Given the description of an element on the screen output the (x, y) to click on. 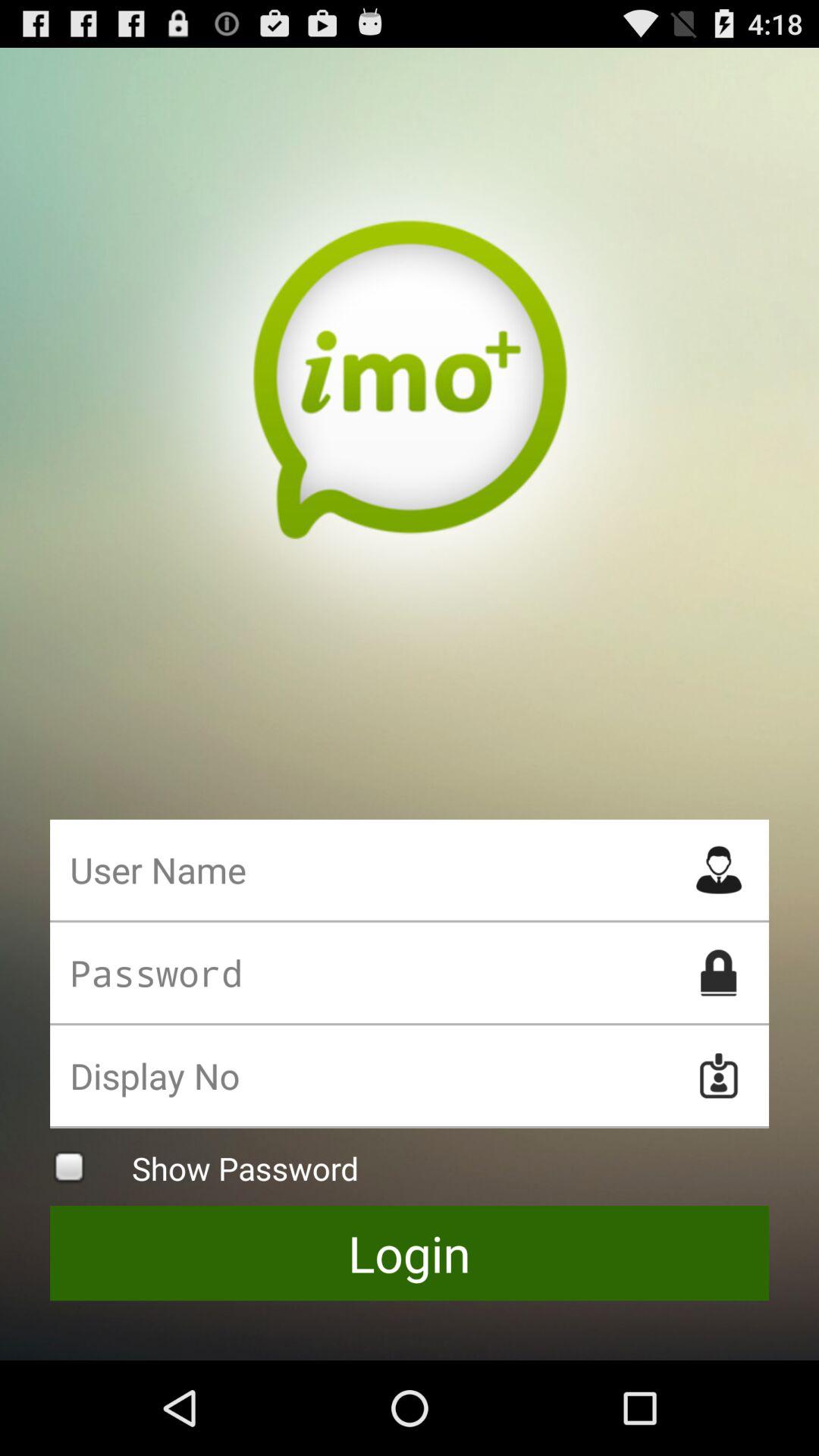
turn on the item above the login item (409, 1166)
